Given the description of an element on the screen output the (x, y) to click on. 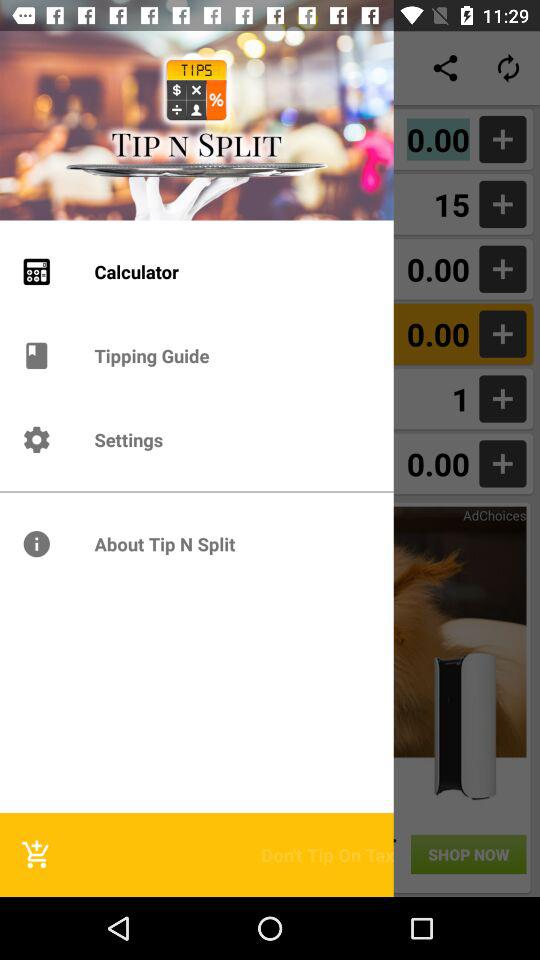
click on add more icon which is below refresh button (502, 139)
